Given the description of an element on the screen output the (x, y) to click on. 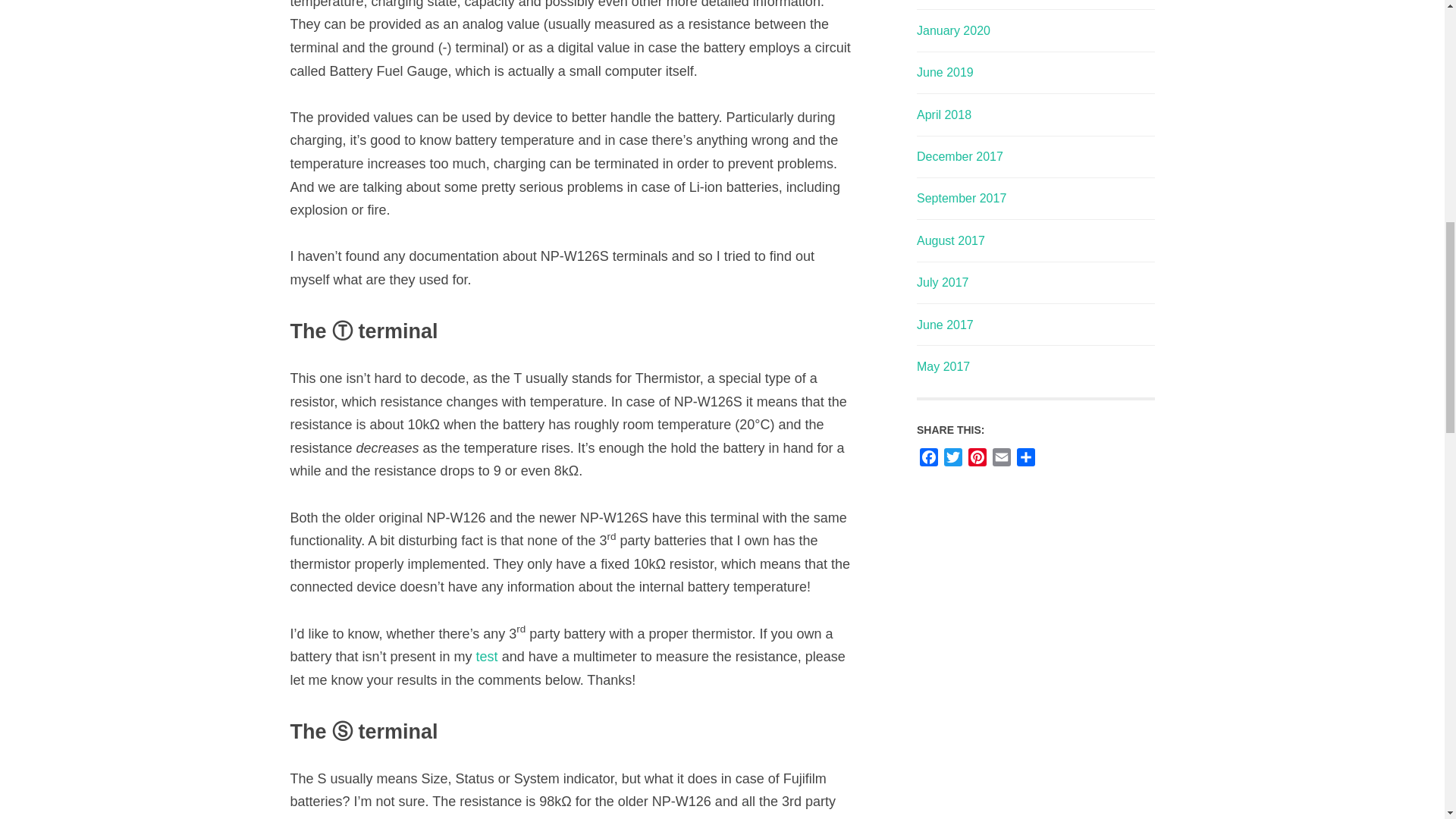
Pinterest (977, 459)
Email (1001, 459)
Twitter (952, 459)
Facebook (928, 459)
test (486, 656)
